Given the description of an element on the screen output the (x, y) to click on. 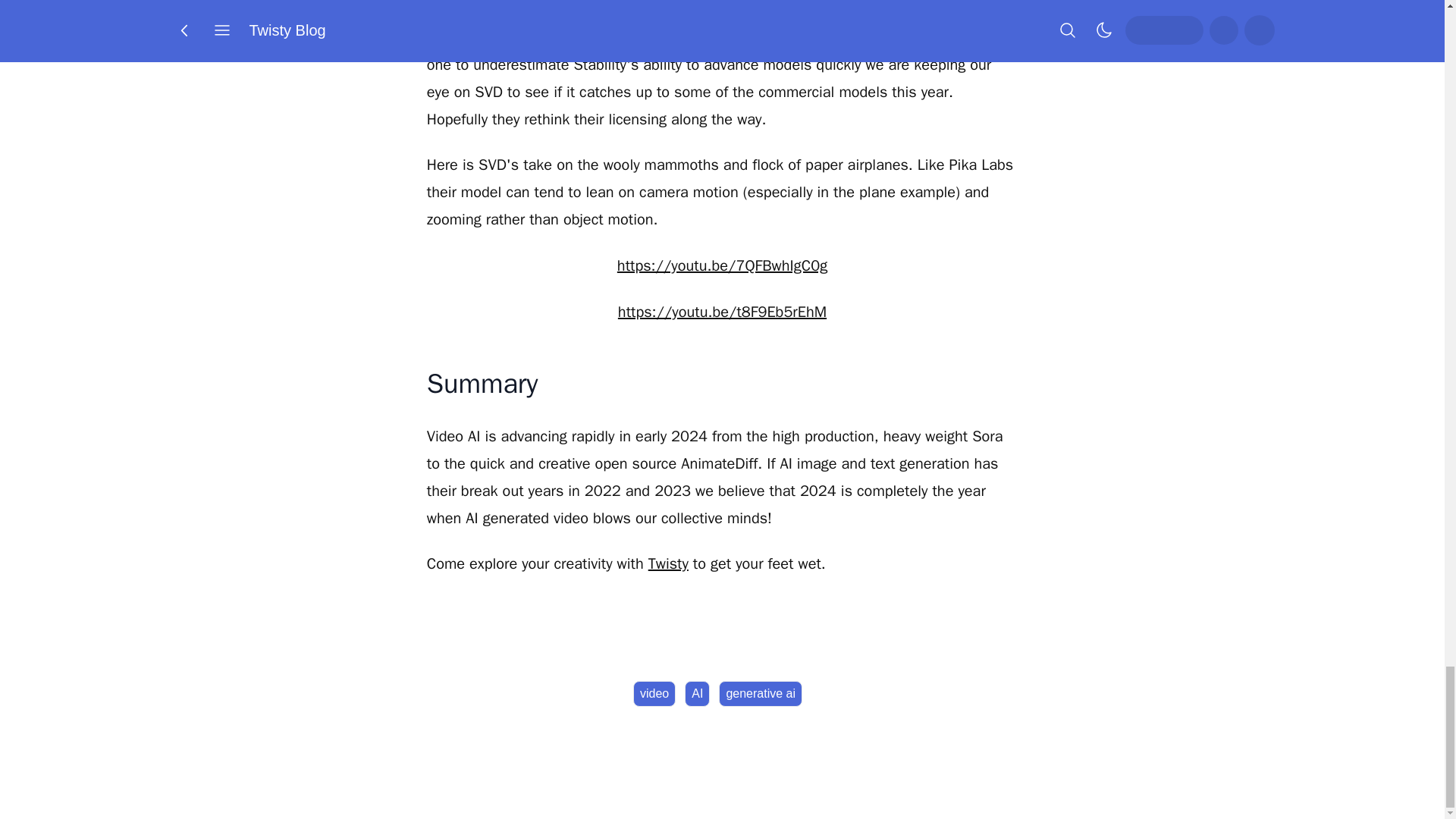
Twisty (667, 563)
AI (697, 693)
generative ai (760, 693)
video (654, 693)
